Given the description of an element on the screen output the (x, y) to click on. 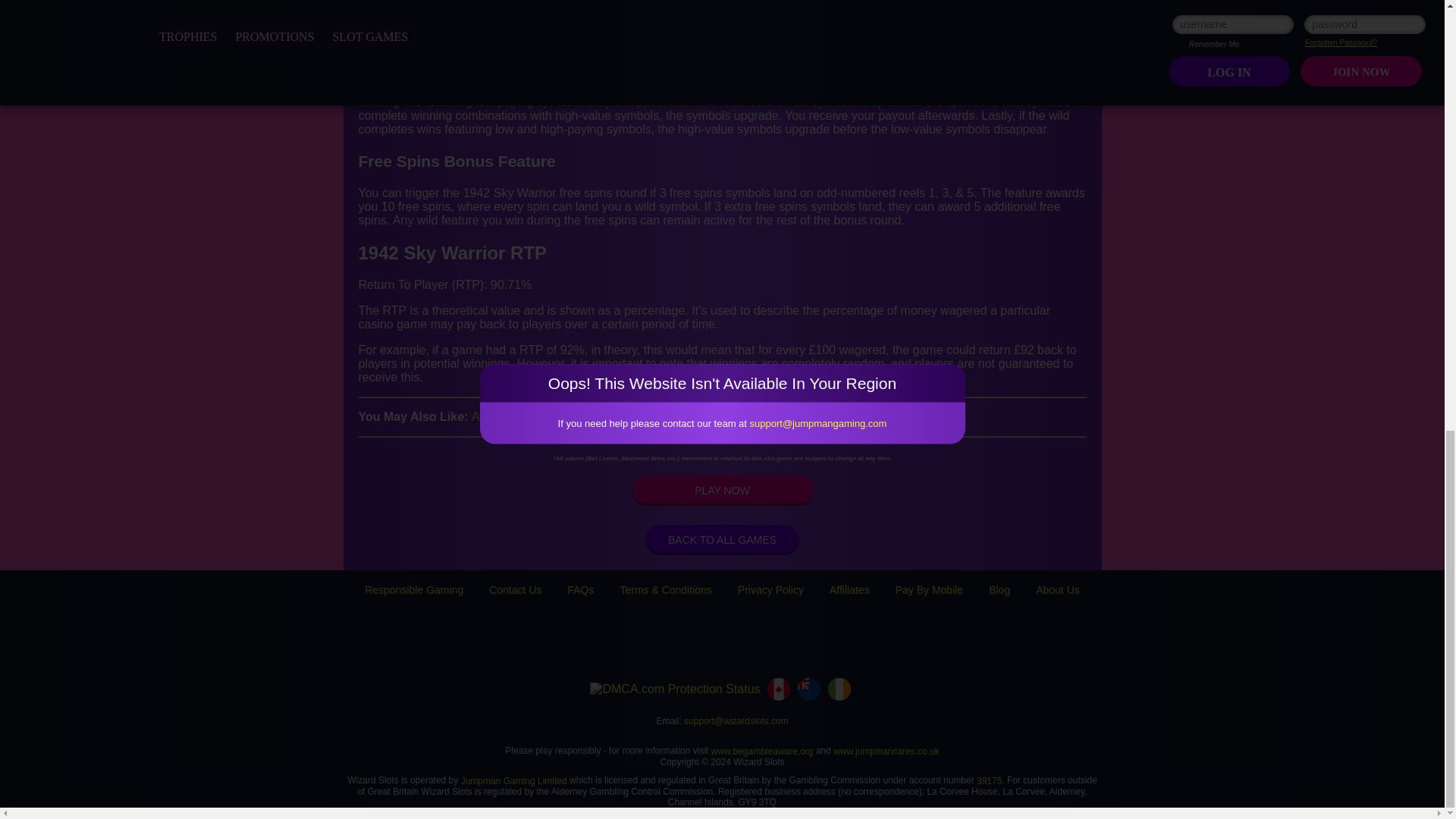
BACK TO ALL GAMES (722, 539)
Blog (999, 589)
Privacy Policy (770, 589)
Responsible Gaming (414, 589)
Fortune of Giza (706, 416)
DMCA.com Protection Status (674, 689)
Big Money Vegas (608, 416)
BACK TO ALL GAMES (722, 539)
FAQs (580, 589)
Pay By Mobile (928, 589)
Contact Us (515, 589)
Affiliates (849, 589)
A Tale of Elves (511, 416)
About Us (1057, 589)
